Given the description of an element on the screen output the (x, y) to click on. 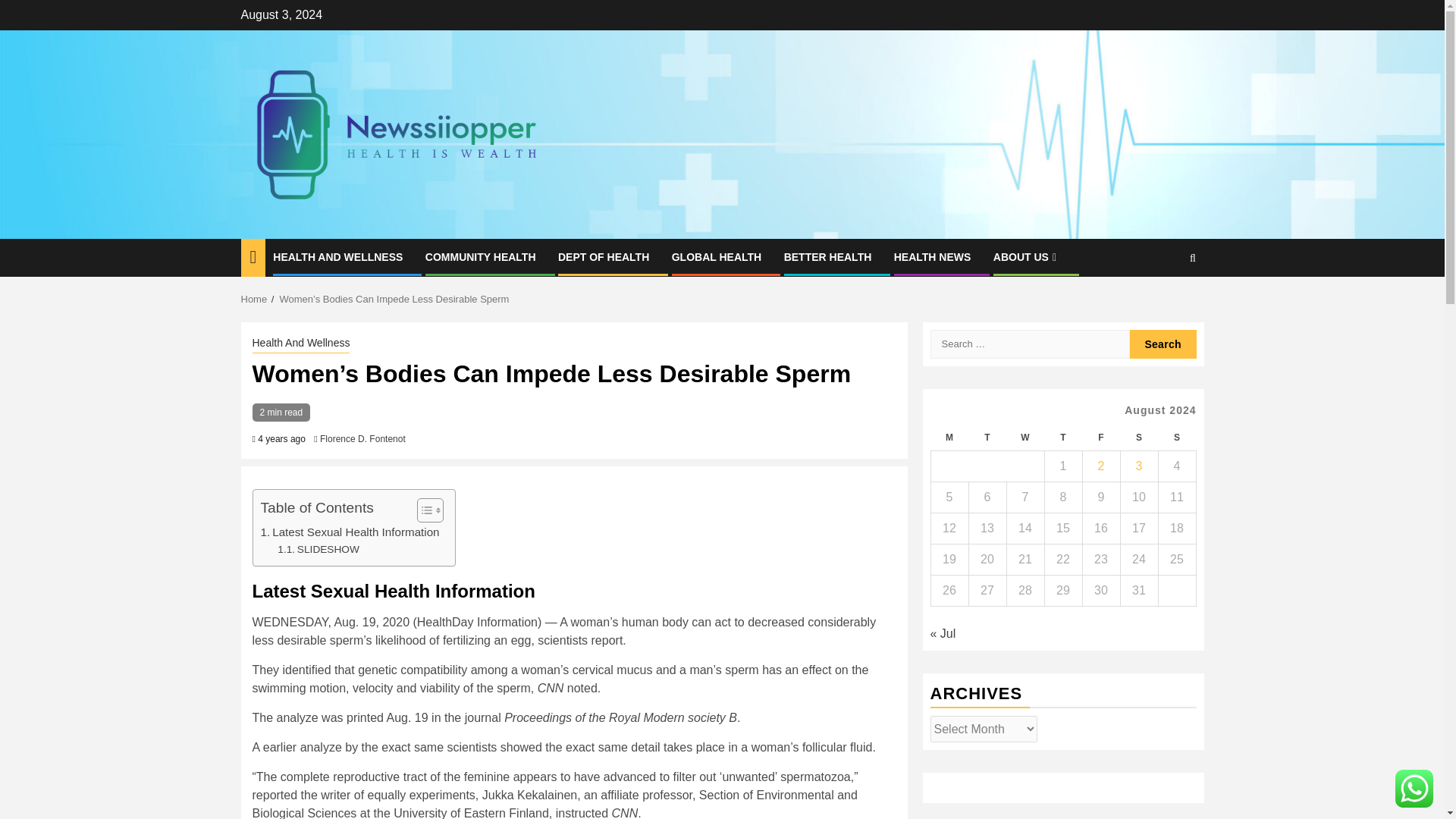
Latest Sexual Health Information (349, 532)
Saturday (1138, 438)
Thursday (1062, 438)
Search (1163, 304)
ABOUT US (1025, 256)
Search (1162, 344)
SLIDESHOW (318, 549)
COMMUNITY HEALTH (480, 256)
Health And Wellness (300, 343)
Search (1162, 344)
DEPT OF HEALTH (603, 256)
HEALTH NEWS (932, 256)
HEALTH AND WELLNESS (338, 256)
GLOBAL HEALTH (716, 256)
Monday (949, 438)
